Given the description of an element on the screen output the (x, y) to click on. 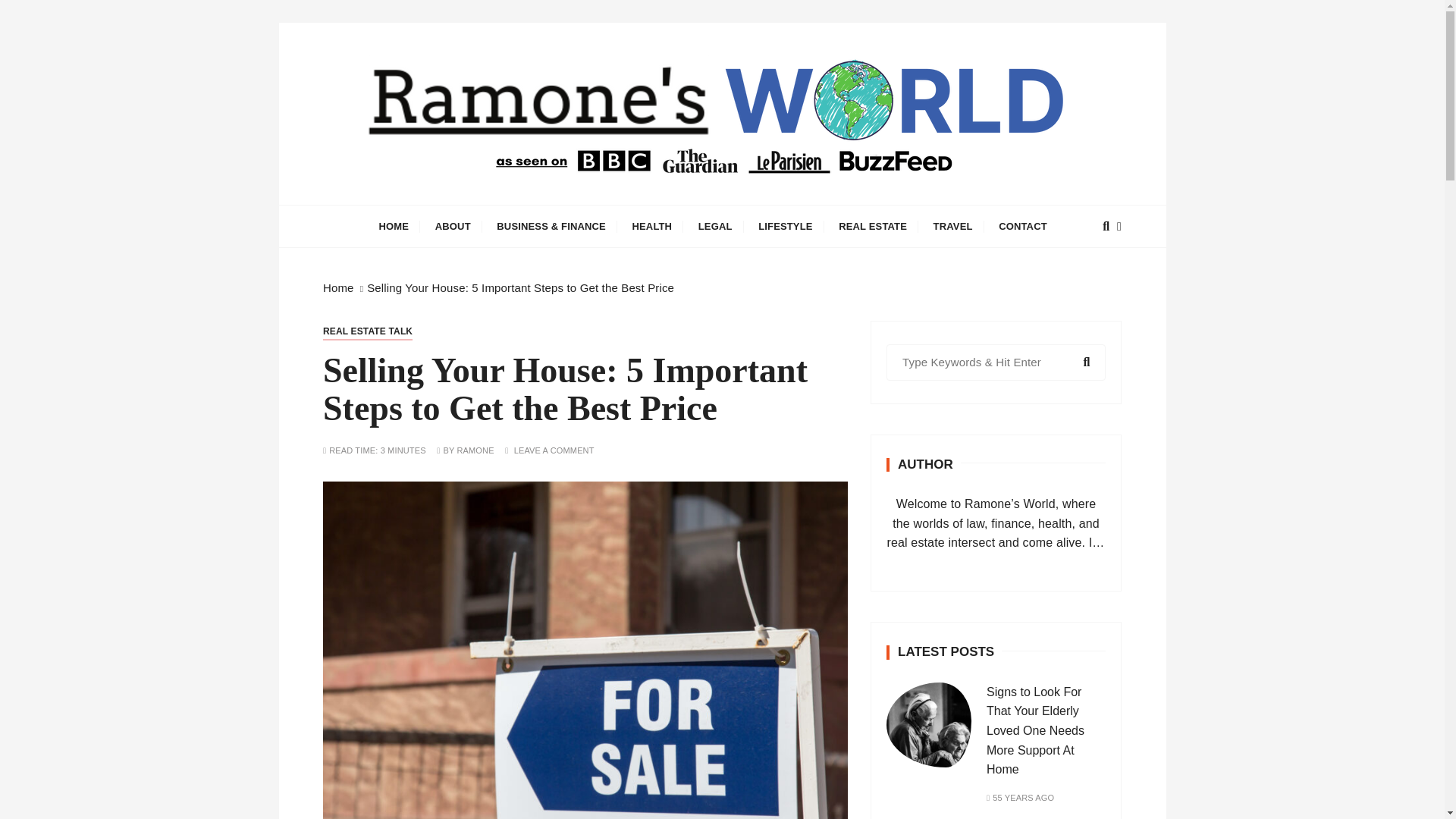
REAL ESTATE (872, 226)
TRAVEL (952, 226)
HEALTH (651, 226)
Home (338, 287)
Selling Your House: 5 Important Steps to Get the Best Price (520, 287)
CONTACT (1022, 226)
LEGAL (715, 226)
ABOUT (452, 226)
LIFESTYLE (785, 226)
